Given the description of an element on the screen output the (x, y) to click on. 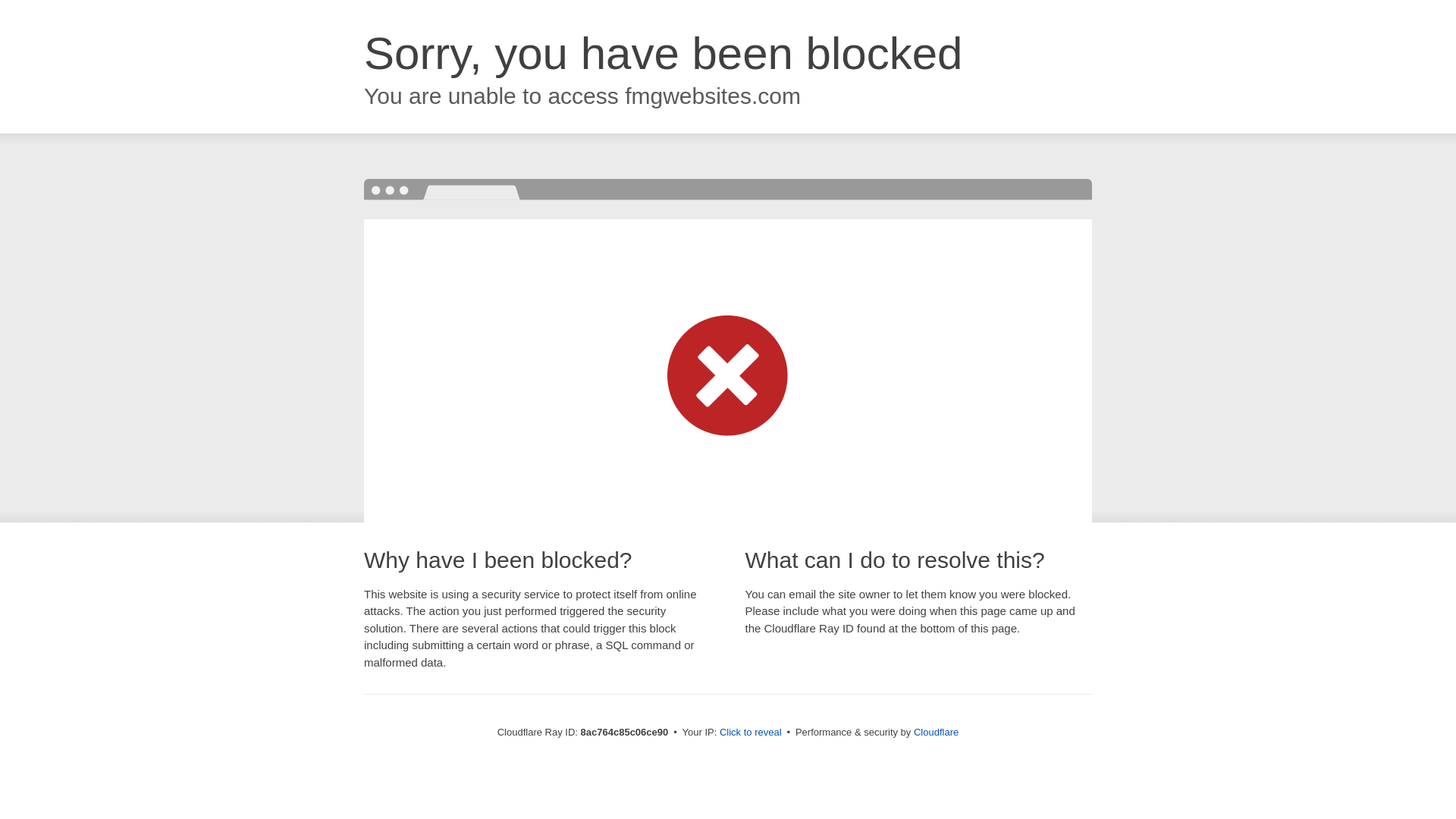
Click to reveal (750, 732)
Cloudflare (936, 731)
